Given the description of an element on the screen output the (x, y) to click on. 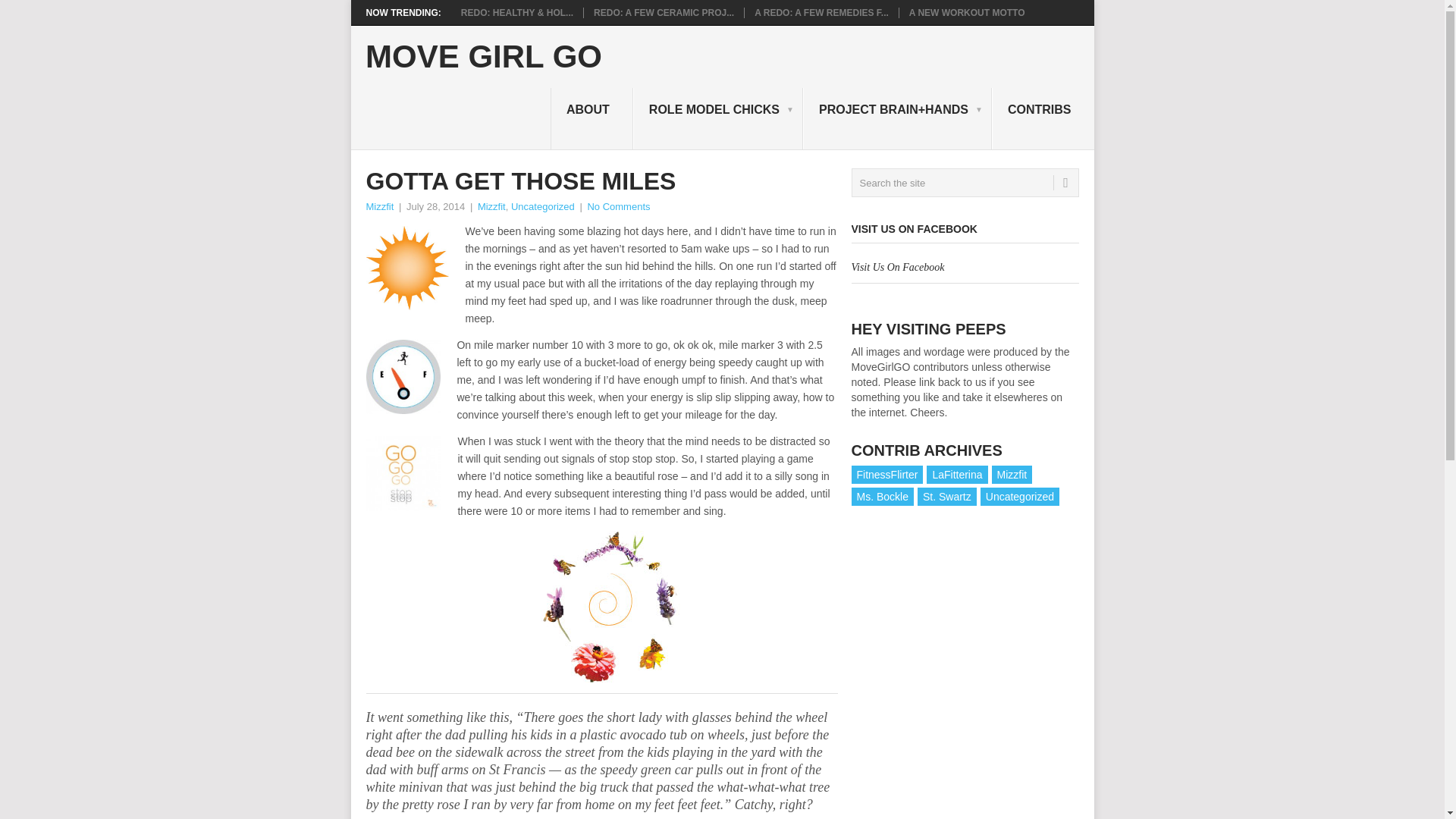
Posts by Mizzfit (379, 206)
Mizzfit (491, 206)
A Redo: A Few Remedies for Bad Days (821, 12)
MOVE GIRL GO (483, 56)
LaFitterina (956, 475)
Search the site (964, 182)
Uncategorized (543, 206)
A NEW WORKOUT MOTTO (966, 12)
No Comments (617, 206)
Redo: A Few Ceramic Projects (663, 12)
A New Workout Motto (966, 12)
REDO: A FEW CERAMIC PROJ... (663, 12)
CONTRIBS (1042, 118)
FitnessFlirter (886, 475)
A REDO: A FEW REMEDIES F... (821, 12)
